Given the description of an element on the screen output the (x, y) to click on. 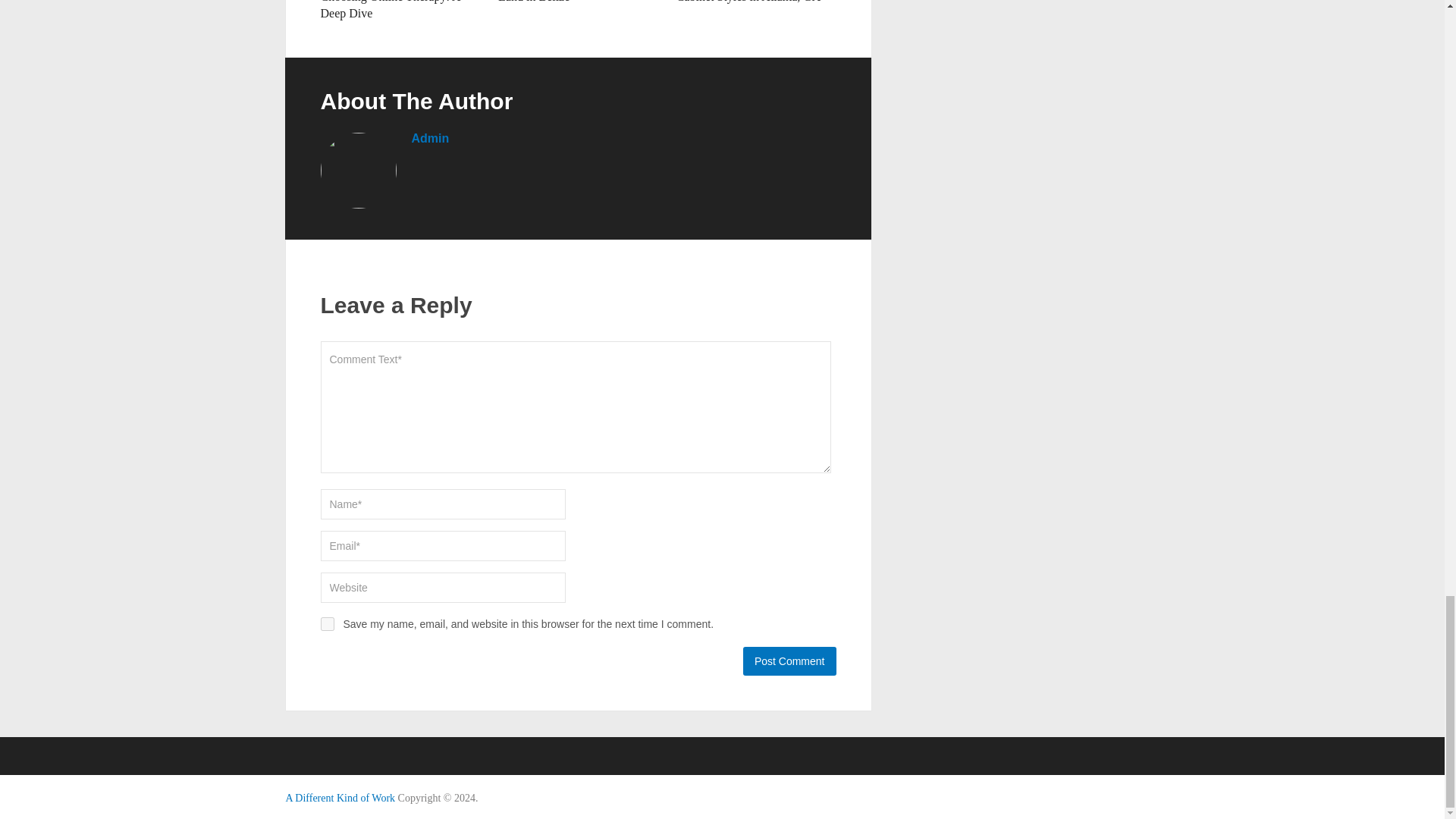
How to Choose Your Dream Land in Belize (566, 1)
How to Choose Your Dream Land in Belize (566, 1)
Post Comment (788, 661)
Transform Your Kitchen: Top 10 Cabinet Styles in Atlanta, GA (755, 1)
Admin (429, 137)
Transform Your Kitchen: Top 10 Cabinet Styles in Atlanta, GA (755, 1)
Post Comment (788, 661)
yes (326, 623)
